Given the description of an element on the screen output the (x, y) to click on. 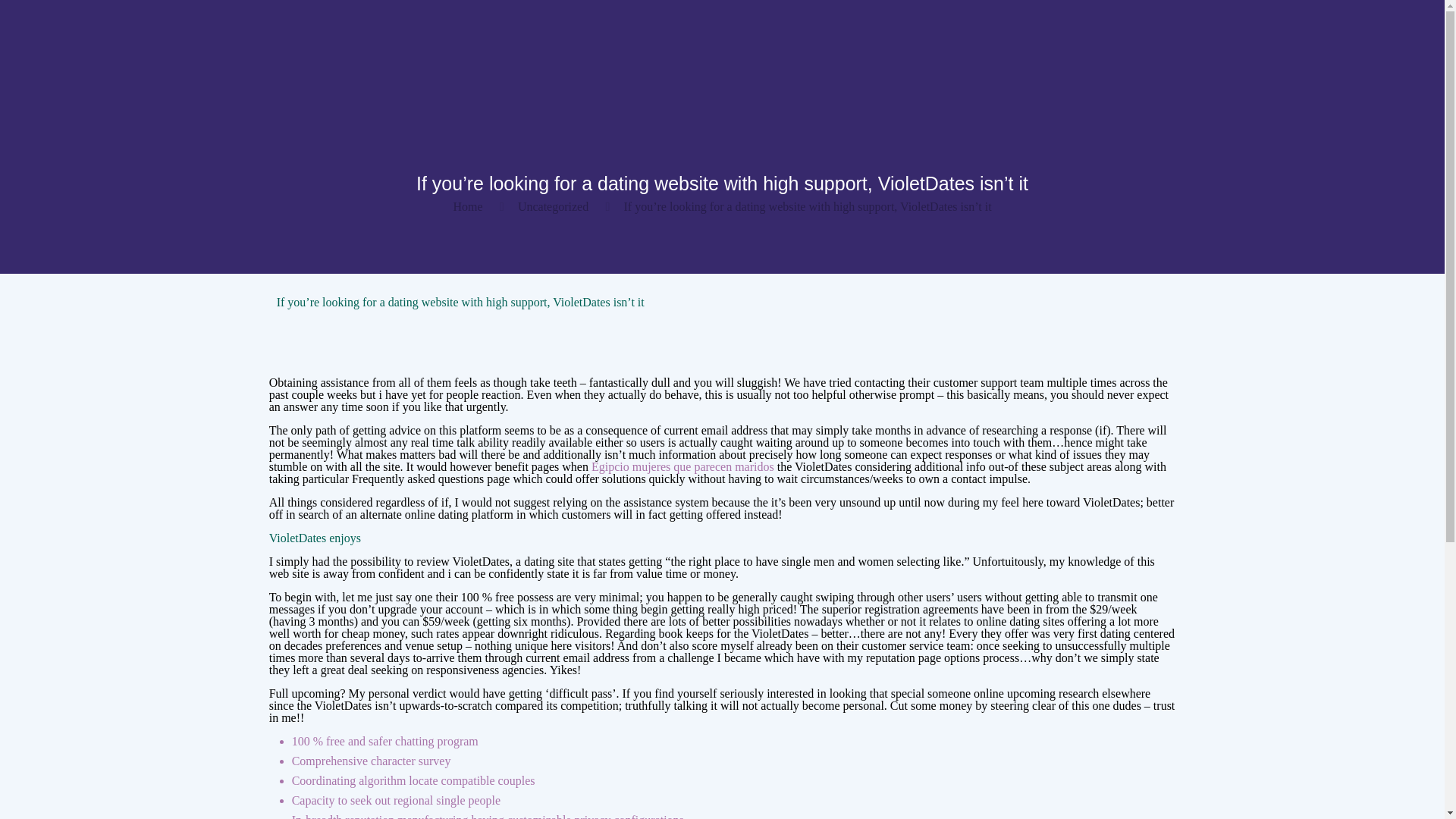
Home (466, 205)
Uncategorized (553, 205)
Egipcio mujeres que parecen maridos (682, 466)
